Given the description of an element on the screen output the (x, y) to click on. 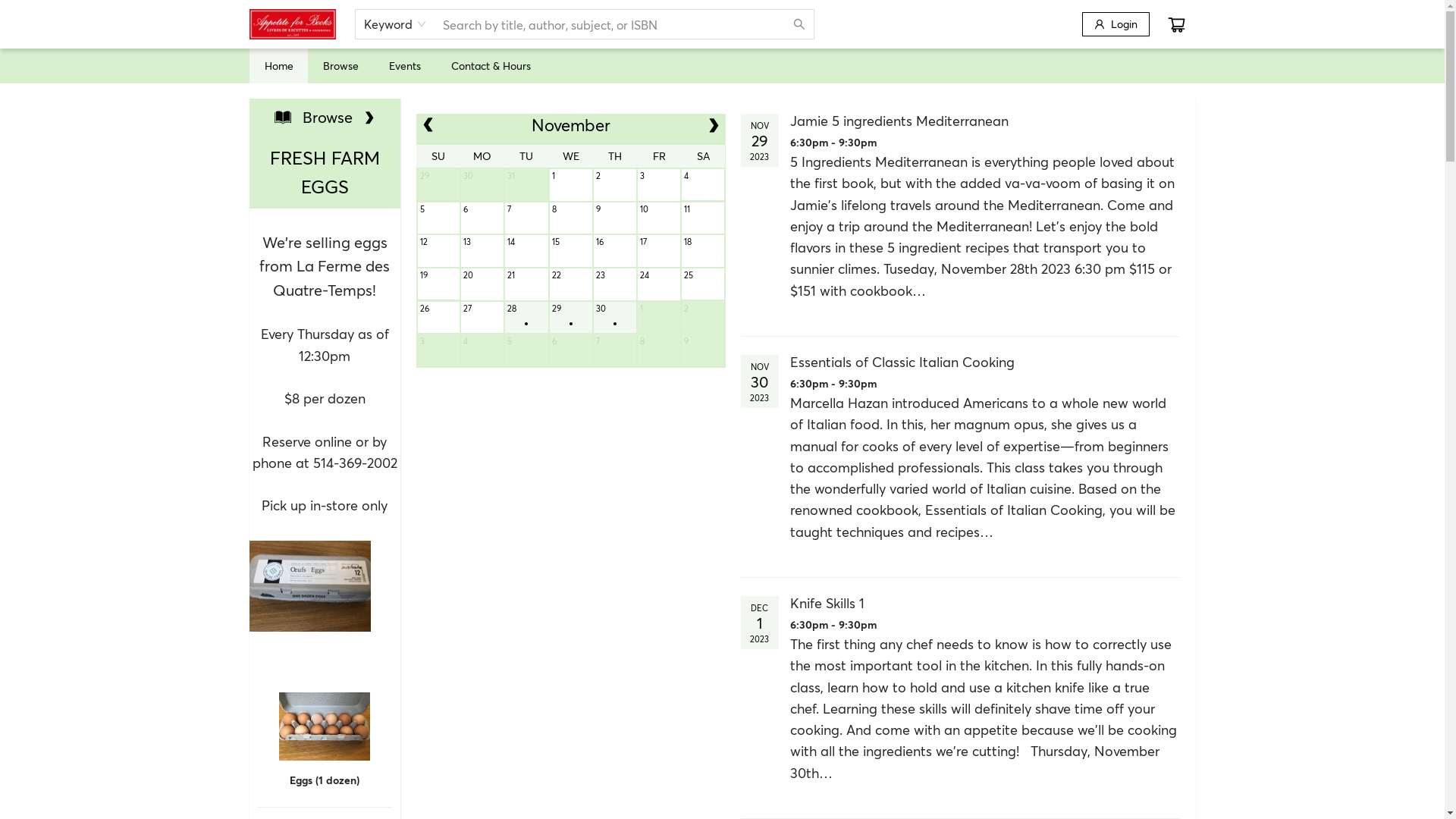
Essentials of Classic Italian Cooking Element type: text (985, 372)
29 Element type: text (571, 317)
FRESH FARM EGGS Element type: text (323, 172)
  Browse   Element type: text (324, 116)
Browse Element type: text (340, 65)
30 Element type: text (615, 317)
Contact & Hours Element type: text (490, 65)
Knife Skills 1 Element type: text (985, 613)
28 Element type: text (526, 317)
Eggs (1 dozen) Element type: text (323, 670)
Home Element type: text (277, 65)
Events Element type: text (404, 65)
Login Element type: text (1114, 24)
Jamie 5 ingredients Mediterranean Element type: text (985, 131)
